Given the description of an element on the screen output the (x, y) to click on. 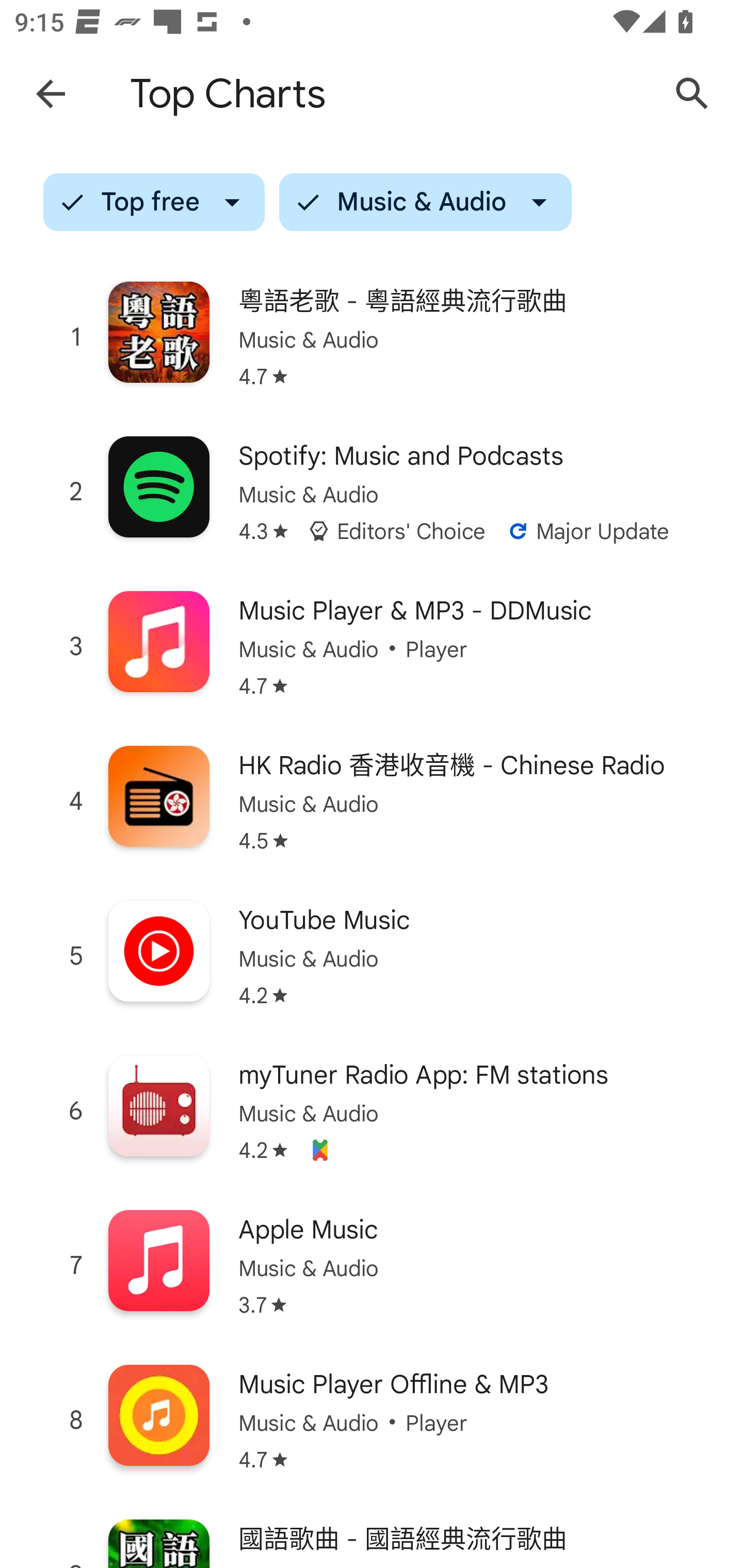
Navigate up (50, 93)
Search Google Play (692, 93)
1 粵語老歌 - 粵語經典流行歌曲
Music & Audio
Star rating: 4.7
 (371, 336)
5 YouTube Music
Music & Audio
Star rating: 4.2
 (371, 956)
7 Apple Music
Music & Audio
Star rating: 3.7
 (371, 1265)
